Given the description of an element on the screen output the (x, y) to click on. 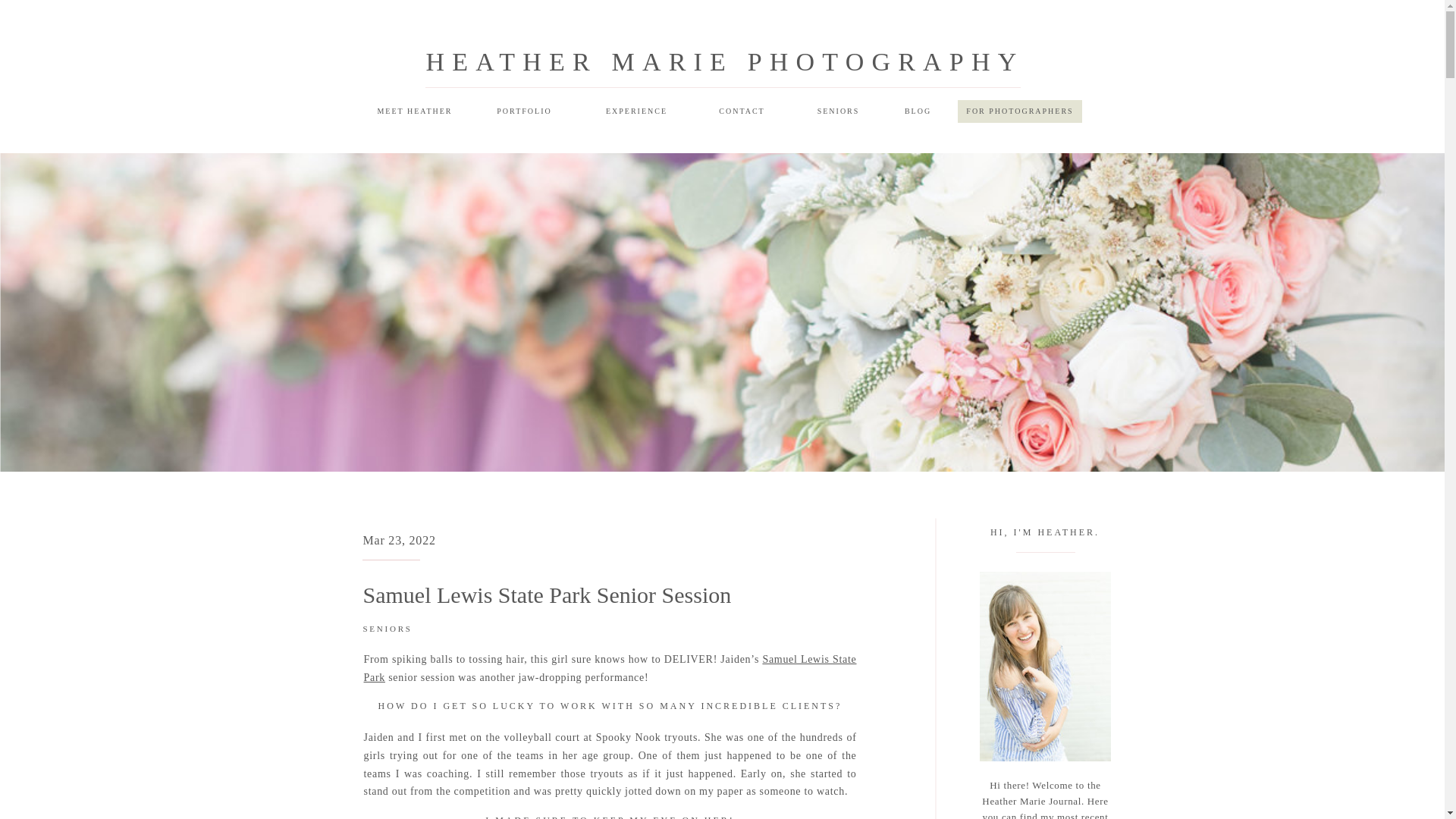
HEATHER MARIE PHOTOGRAPHY (724, 60)
SENIORS (837, 110)
Samuel Lewis State Park (610, 668)
EXPERIENCE (635, 110)
BLOG (917, 110)
PORTFOLIO (523, 110)
CONTACT (741, 110)
FOR PHOTOGRAPHERS (1018, 110)
MEET HEATHER (413, 110)
